Given the description of an element on the screen output the (x, y) to click on. 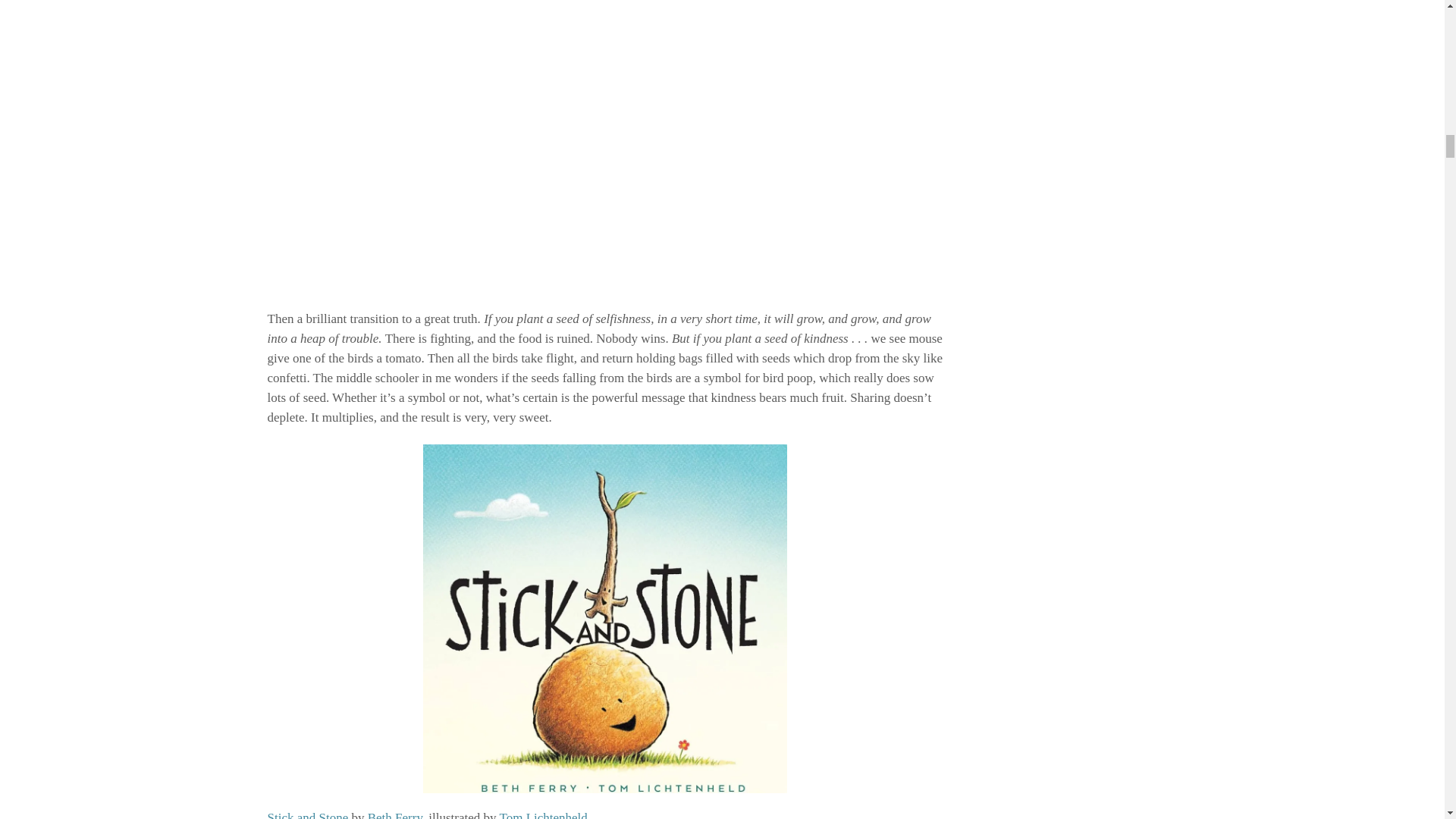
Beth Ferry (395, 814)
Stick and Stone (306, 814)
